Given the description of an element on the screen output the (x, y) to click on. 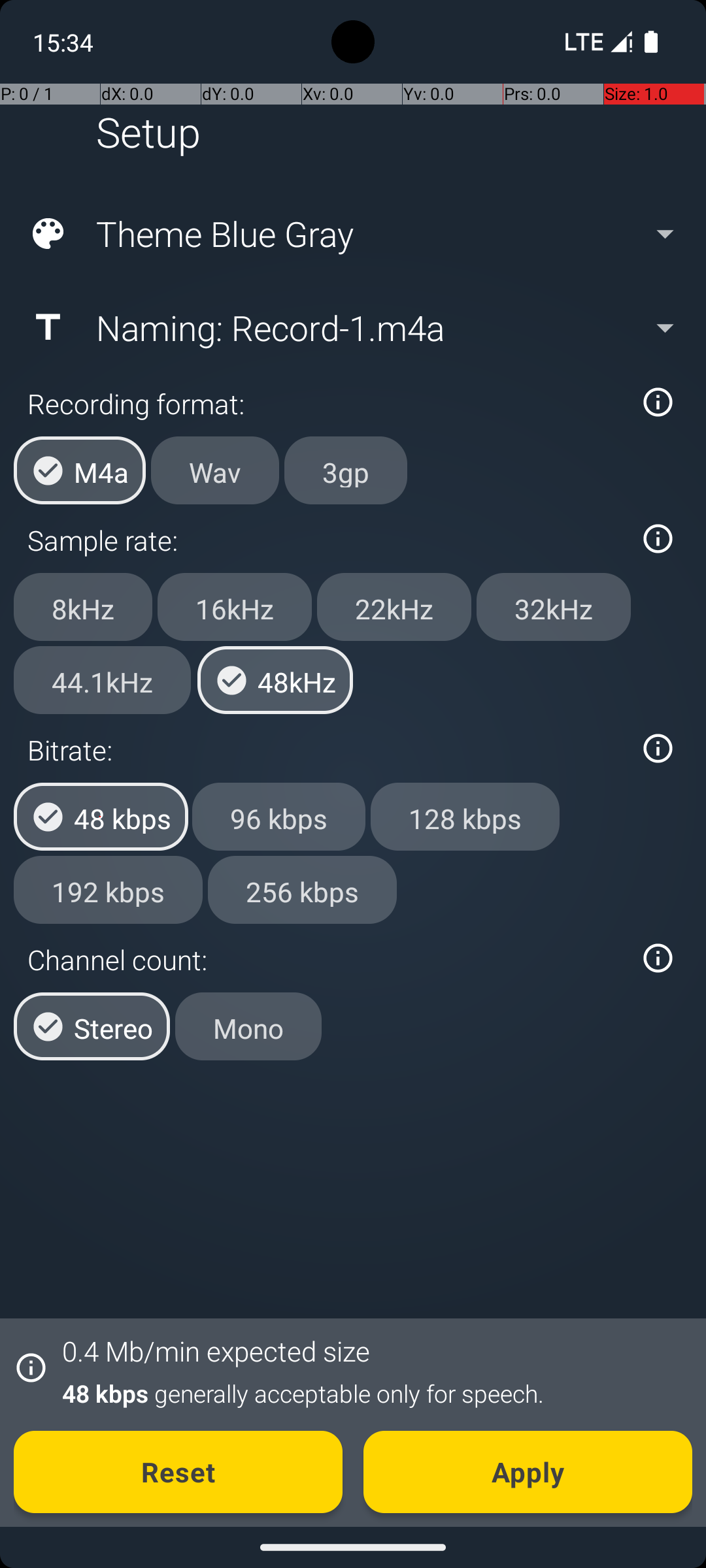
0.4 Mb/min expected size Element type: android.widget.TextView (215, 1350)
48 kbps generally acceptable only for speech. Element type: android.widget.TextView (370, 1392)
